Given the description of an element on the screen output the (x, y) to click on. 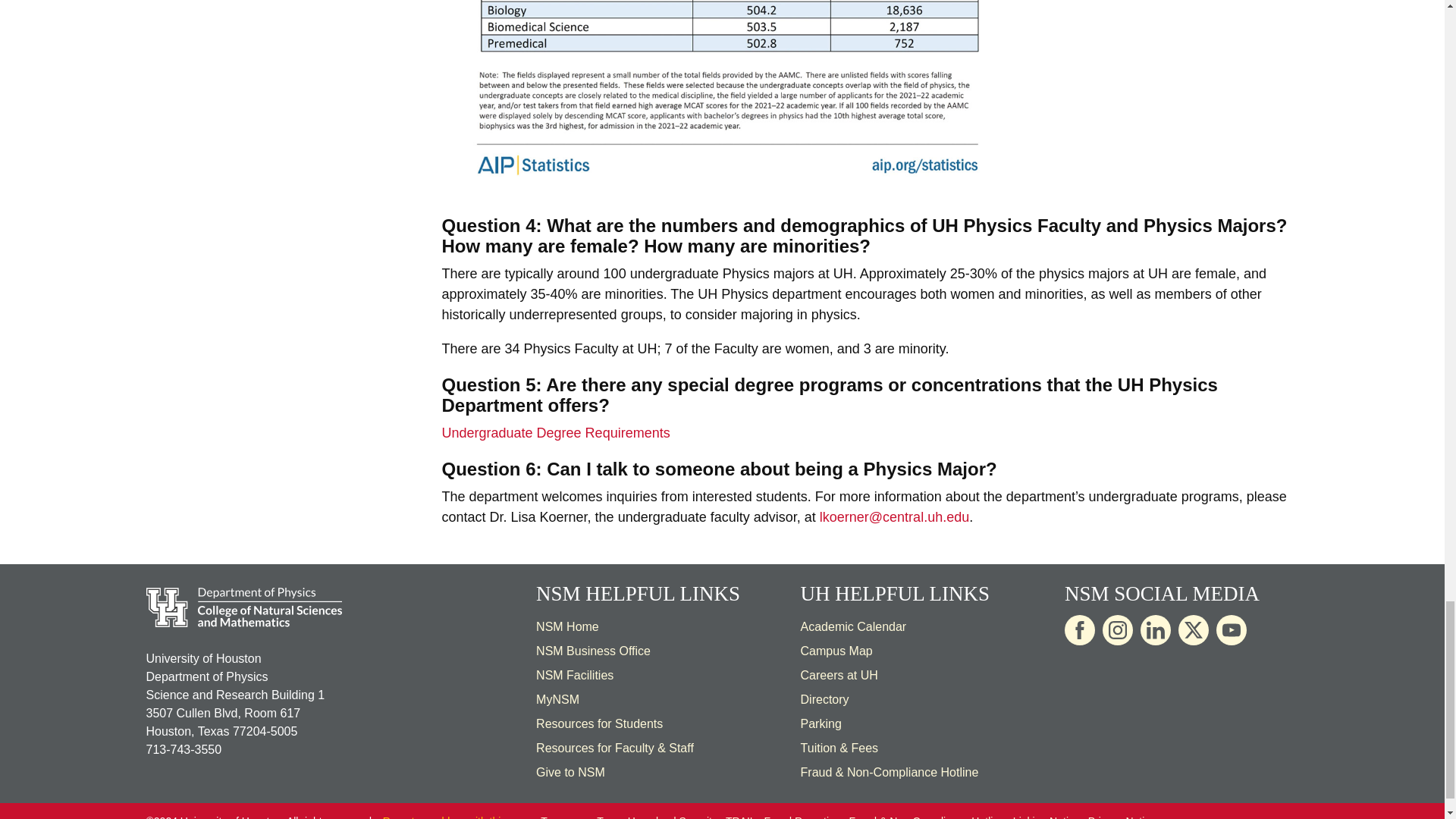
University of Houston (647, 348)
University of Houston (1131, 384)
University of Houston (1157, 273)
University of Houston (842, 273)
University of Houston (814, 593)
University of Houston (944, 225)
University of Houston (868, 675)
University of Houston (934, 516)
University of Houston (707, 294)
